Given the description of an element on the screen output the (x, y) to click on. 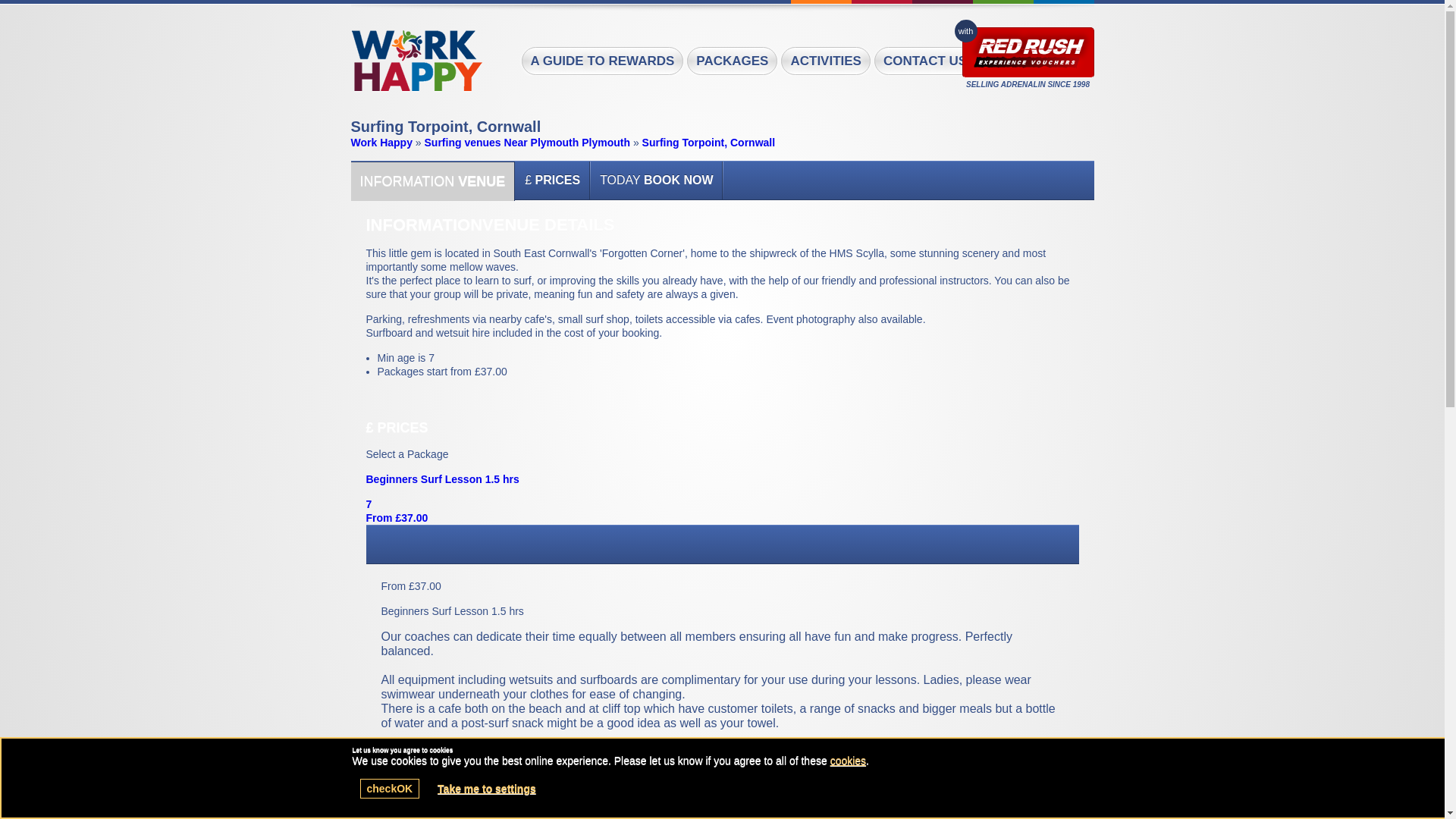
Surfing Torpoint, Cornwall (415, 61)
Take me to settings (486, 788)
Surfing Torpoint, Cornwall (709, 142)
TODAY BOOK NOW (656, 180)
Red Rush Vouchers (1026, 52)
Surfing venues Near Plymouth Plymouth (527, 142)
cookies (847, 760)
ACTIVITIES (825, 60)
checkOK (389, 788)
PACKAGES (732, 60)
Work Happy (381, 142)
A GUIDE TO REWARDS (602, 60)
CONTACT US (925, 60)
INFORMATION VENUE (432, 180)
